Given the description of an element on the screen output the (x, y) to click on. 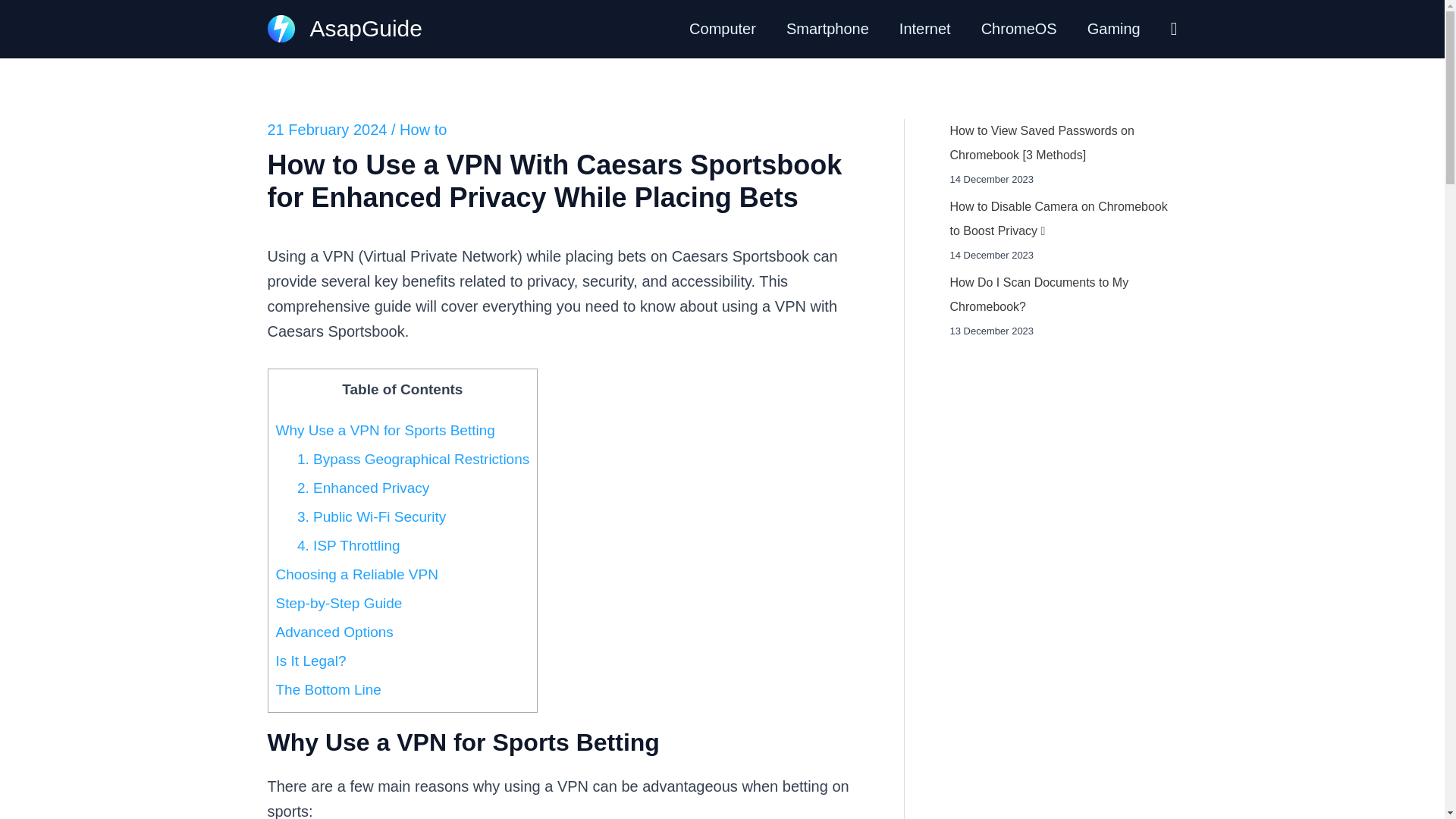
How Do I Scan Documents to My Chromebook? (1038, 294)
Is It Legal? (311, 660)
Why Use a VPN for Sports Betting (385, 430)
The Bottom Line (328, 689)
Internet (924, 28)
Choosing a Reliable VPN (357, 574)
ChromeOS (1018, 28)
Step-by-Step Guide (339, 602)
Smartphone (827, 28)
4. ISP Throttling (348, 545)
Computer (722, 28)
Gaming (1113, 28)
Advanced Options (334, 631)
3. Public Wi-Fi Security (371, 516)
2. Enhanced Privacy (363, 487)
